Given the description of an element on the screen output the (x, y) to click on. 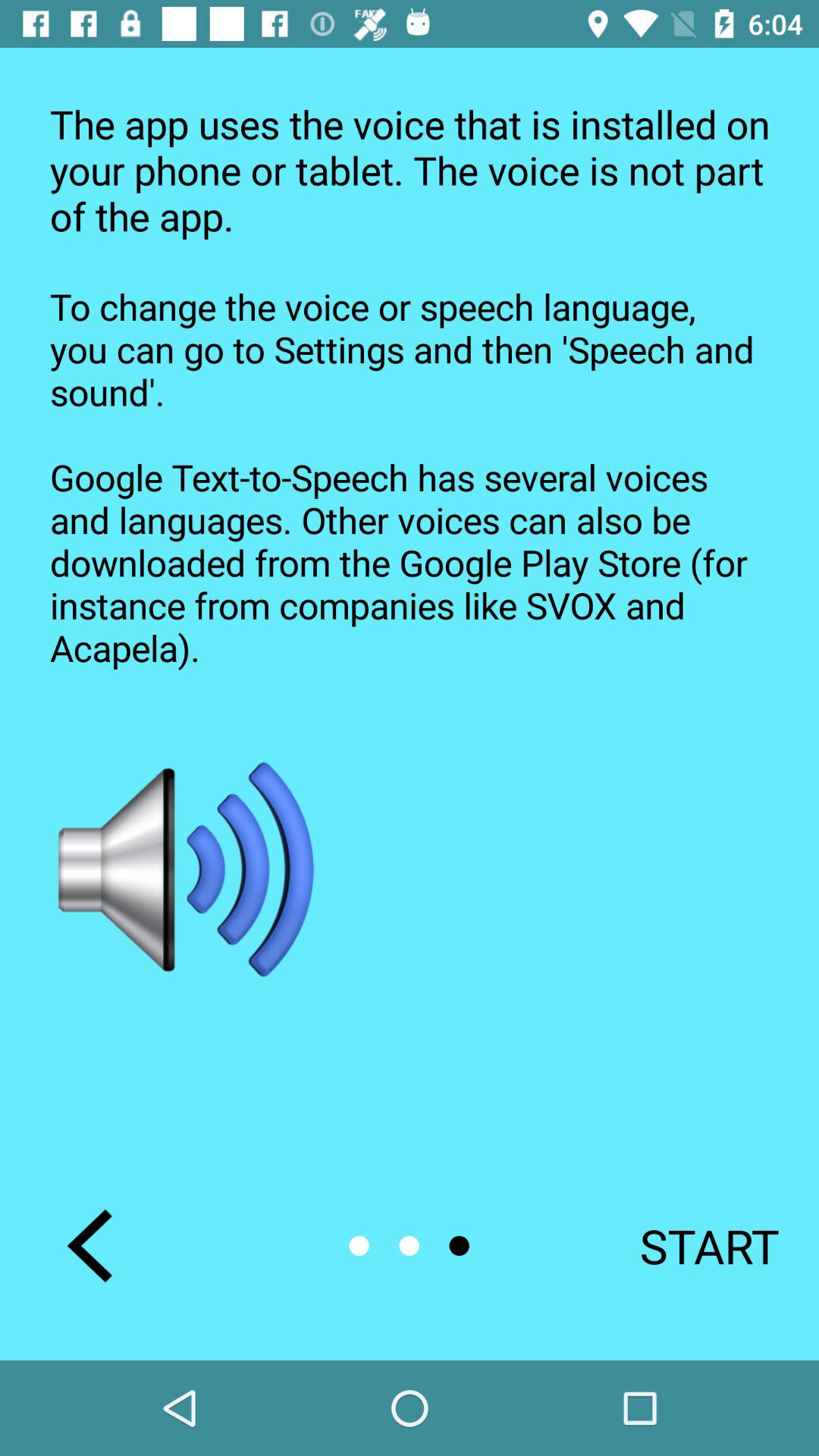
tap the icon below to change the app (187, 869)
